Given the description of an element on the screen output the (x, y) to click on. 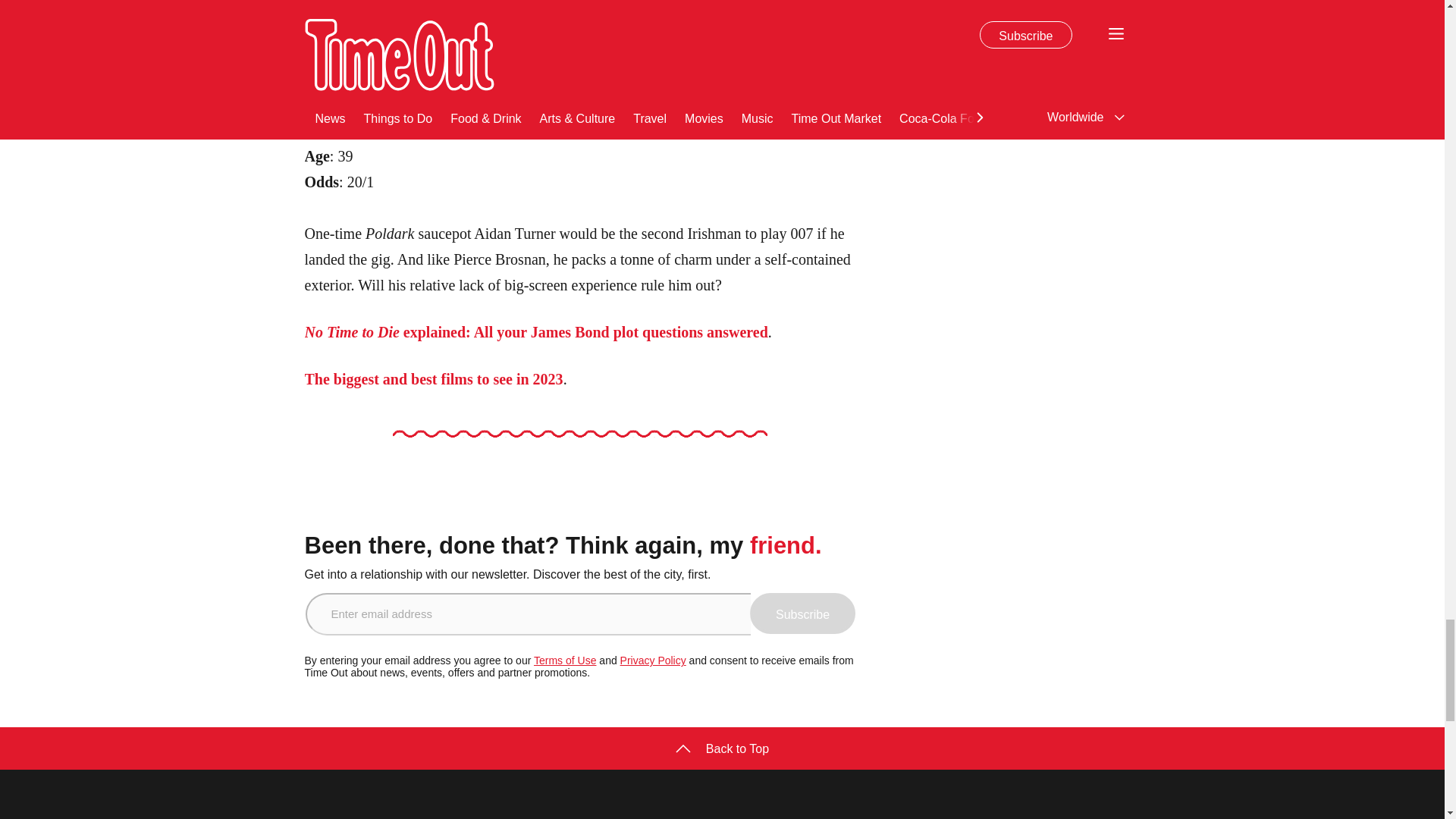
Subscribe (802, 612)
